Given the description of an element on the screen output the (x, y) to click on. 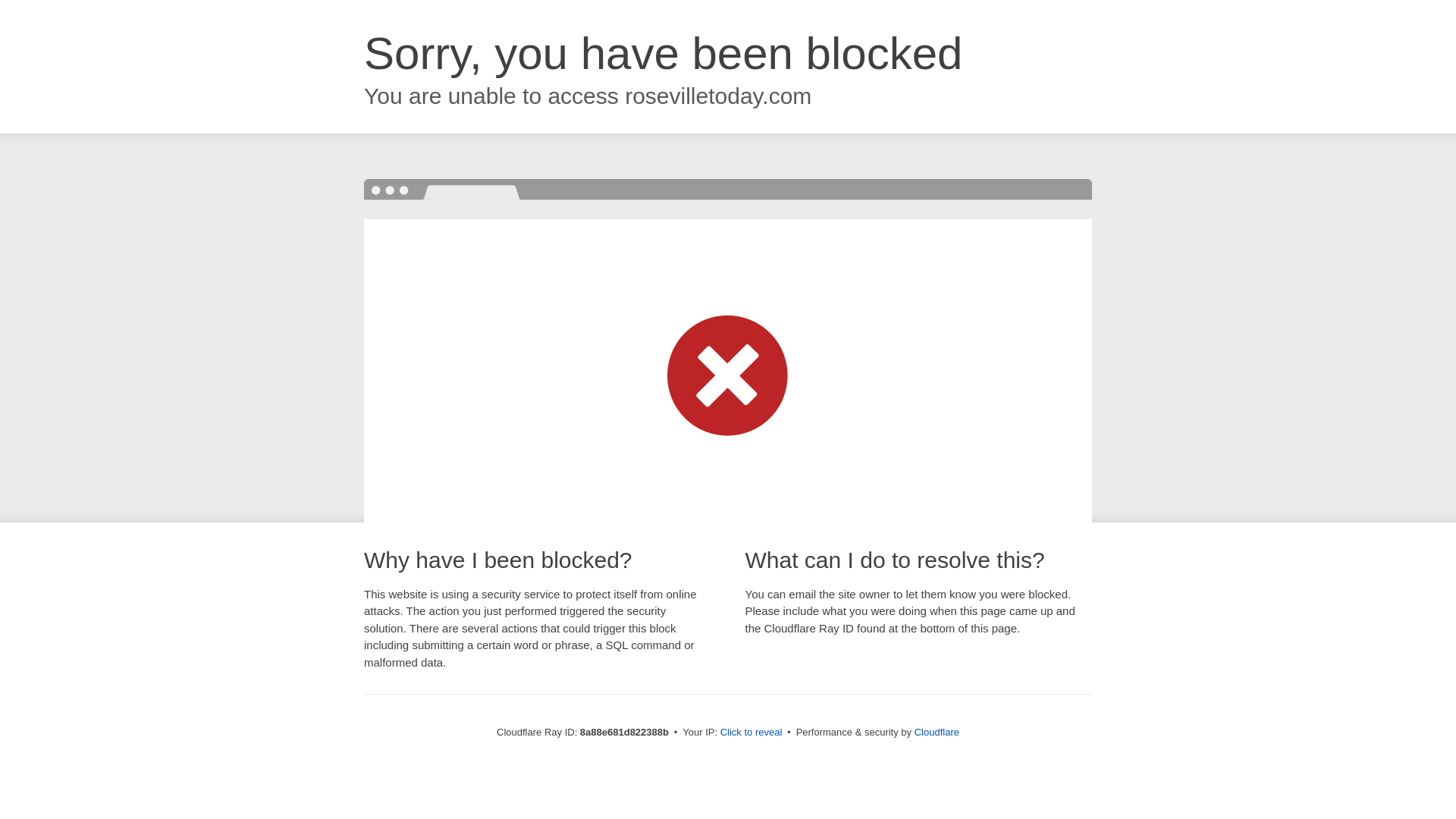
Click to reveal (751, 732)
Cloudflare (936, 731)
